Given the description of an element on the screen output the (x, y) to click on. 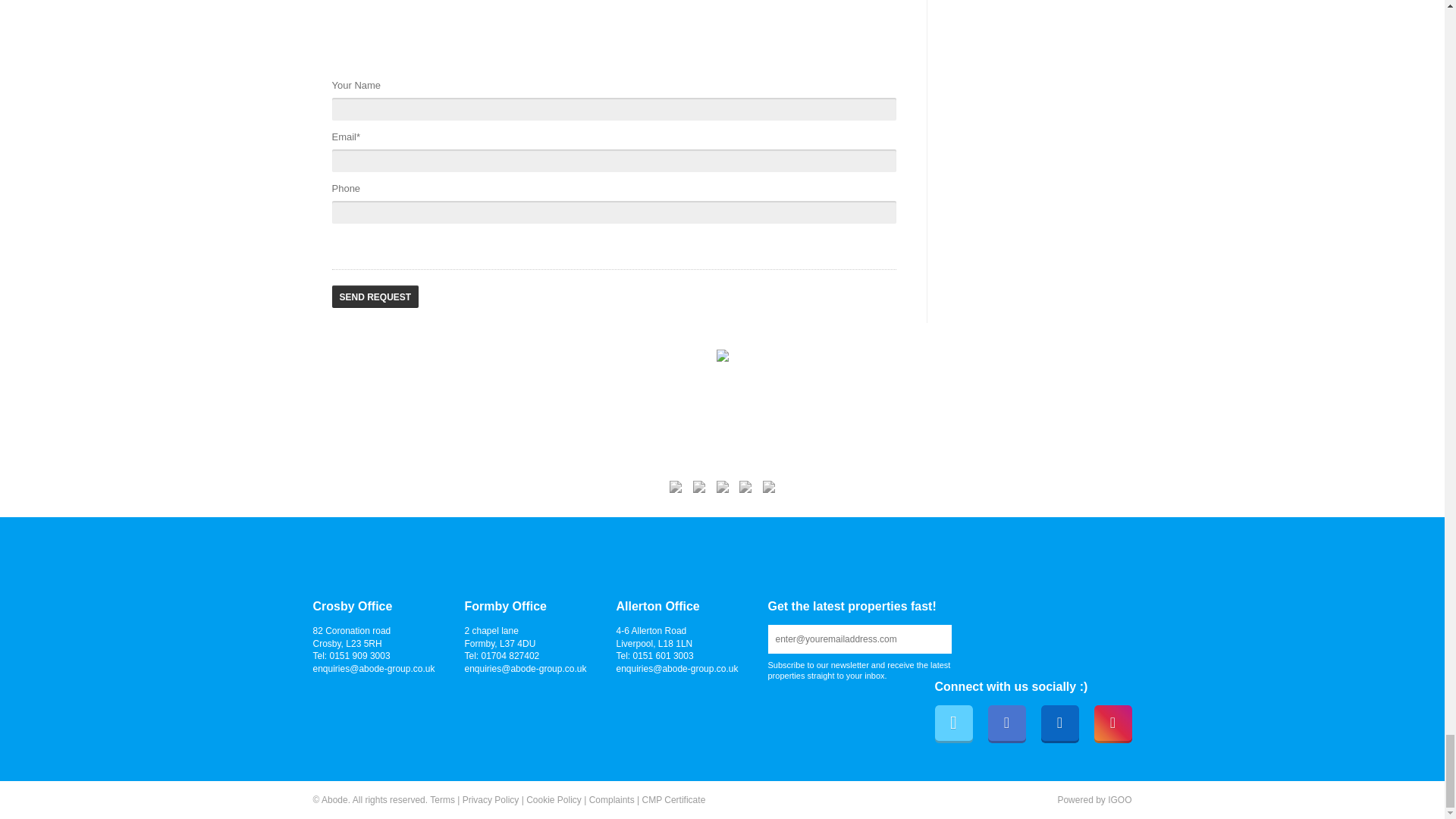
Powered (1075, 799)
Cookie Policy (552, 799)
Complaints (611, 799)
Privacy Policy (491, 799)
Terms (441, 799)
Send Request (375, 296)
Send Request (375, 296)
Website design (1075, 799)
CMP Certificate (673, 799)
Submit (927, 638)
